Given the description of an element on the screen output the (x, y) to click on. 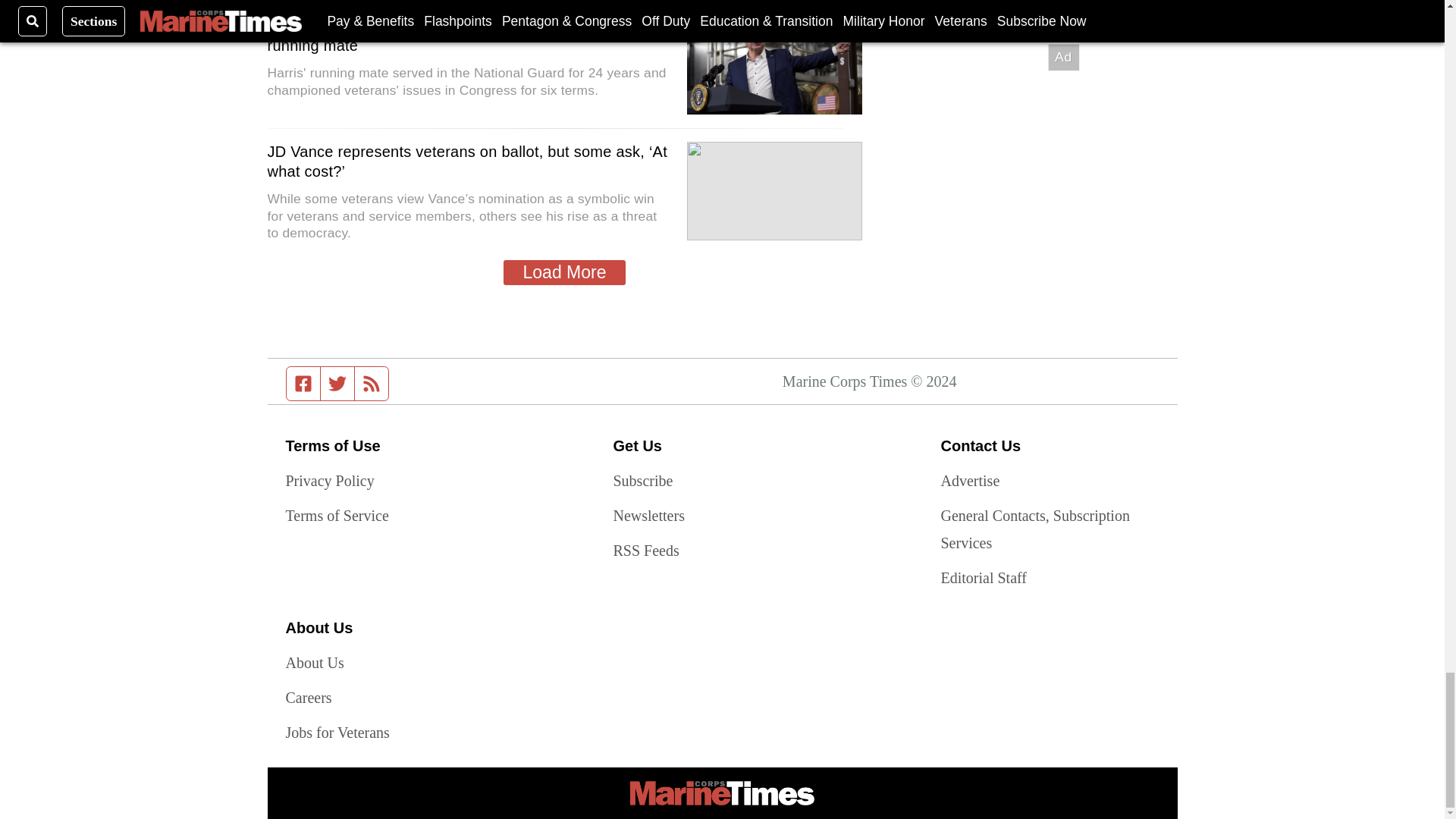
Facebook page (303, 383)
Twitter feed (336, 383)
RSS feed (371, 383)
